Given the description of an element on the screen output the (x, y) to click on. 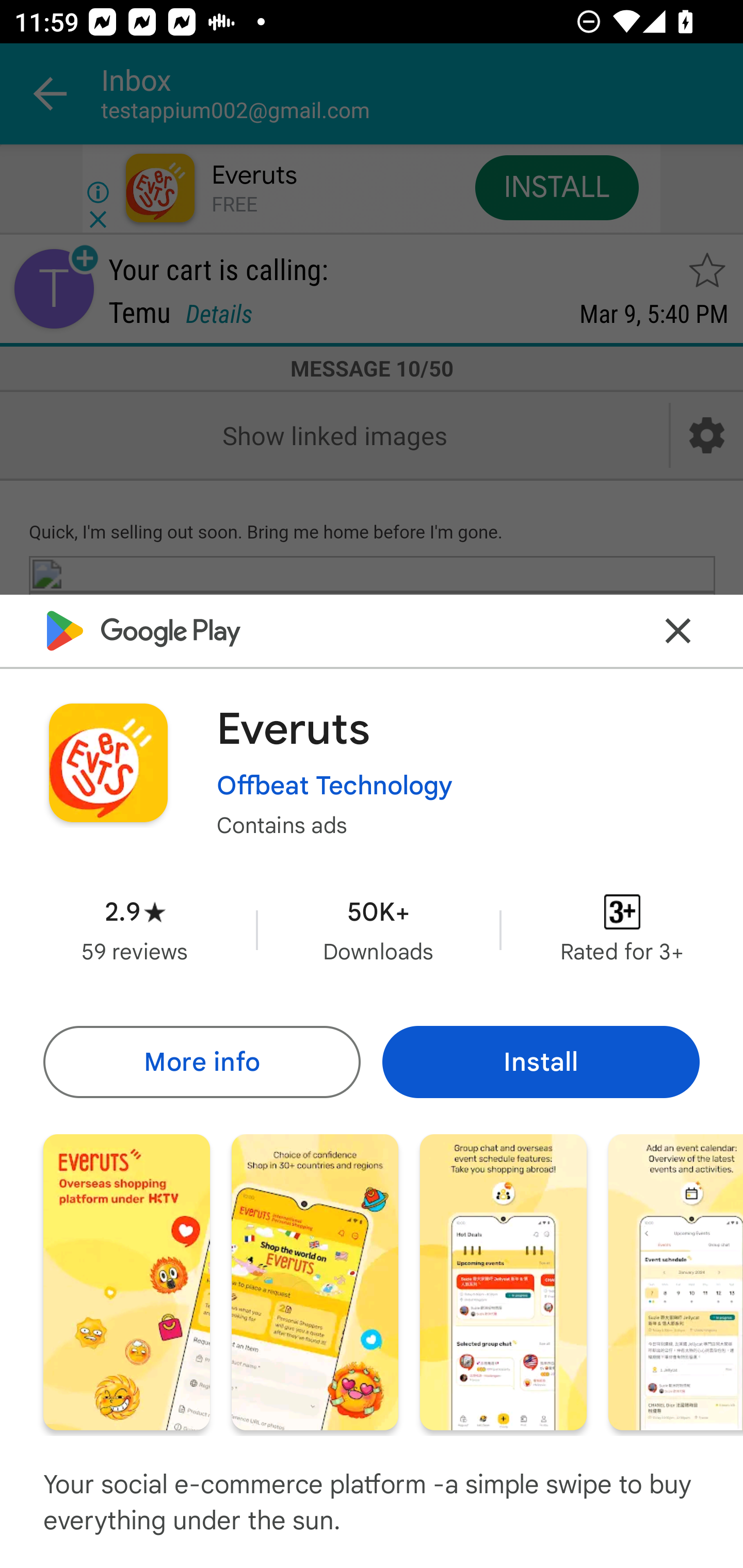
Close (677, 630)
Image of app or game icon for Everuts (108, 762)
Offbeat Technology (334, 784)
More info (201, 1061)
Install (540, 1061)
Screenshot "1" of "7" (126, 1281)
Screenshot "2" of "7" (314, 1281)
Screenshot "3" of "7" (502, 1281)
Screenshot "4" of "7" (675, 1281)
